Given the description of an element on the screen output the (x, y) to click on. 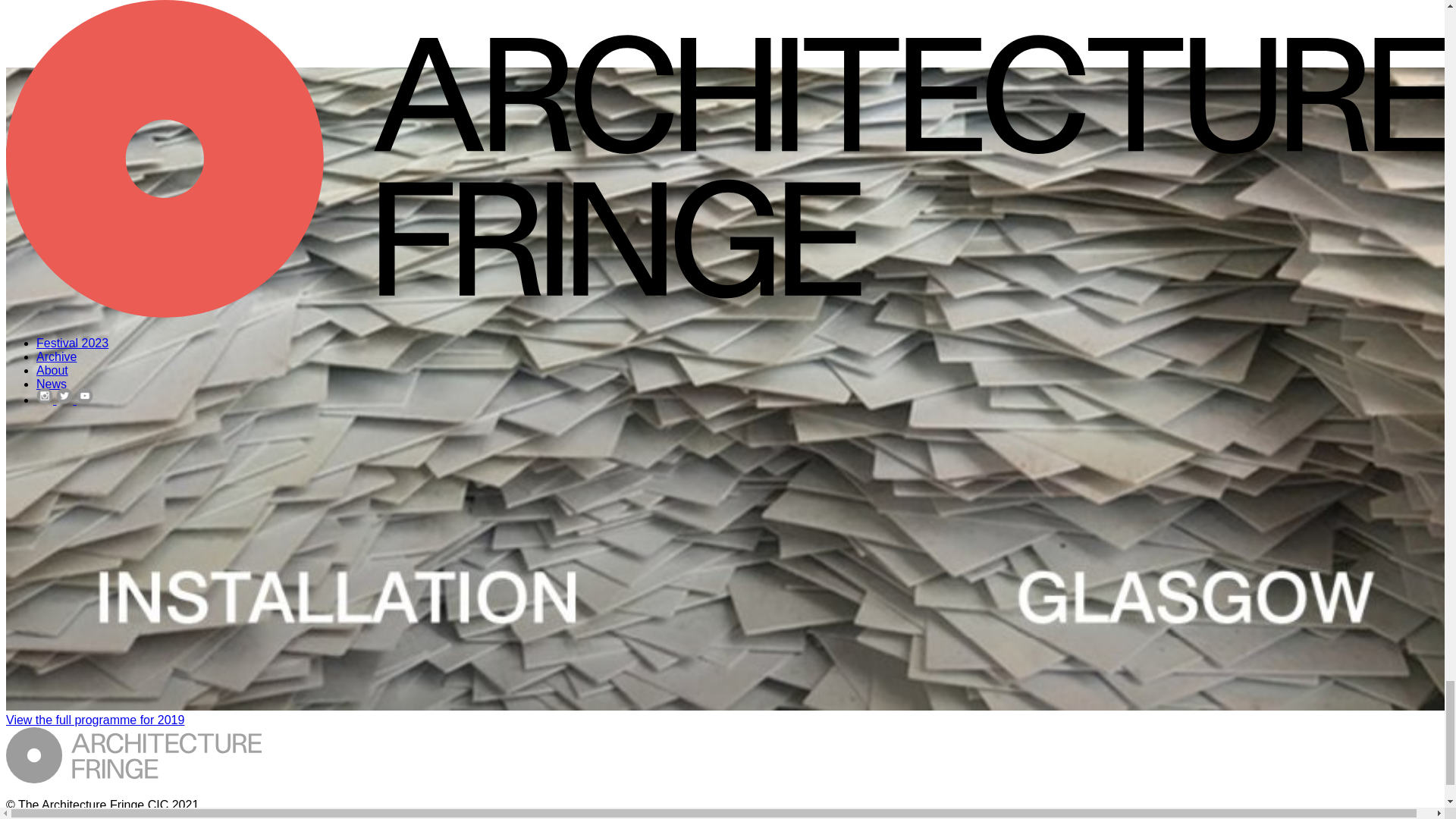
View the full programme for 2019 (94, 719)
